Given the description of an element on the screen output the (x, y) to click on. 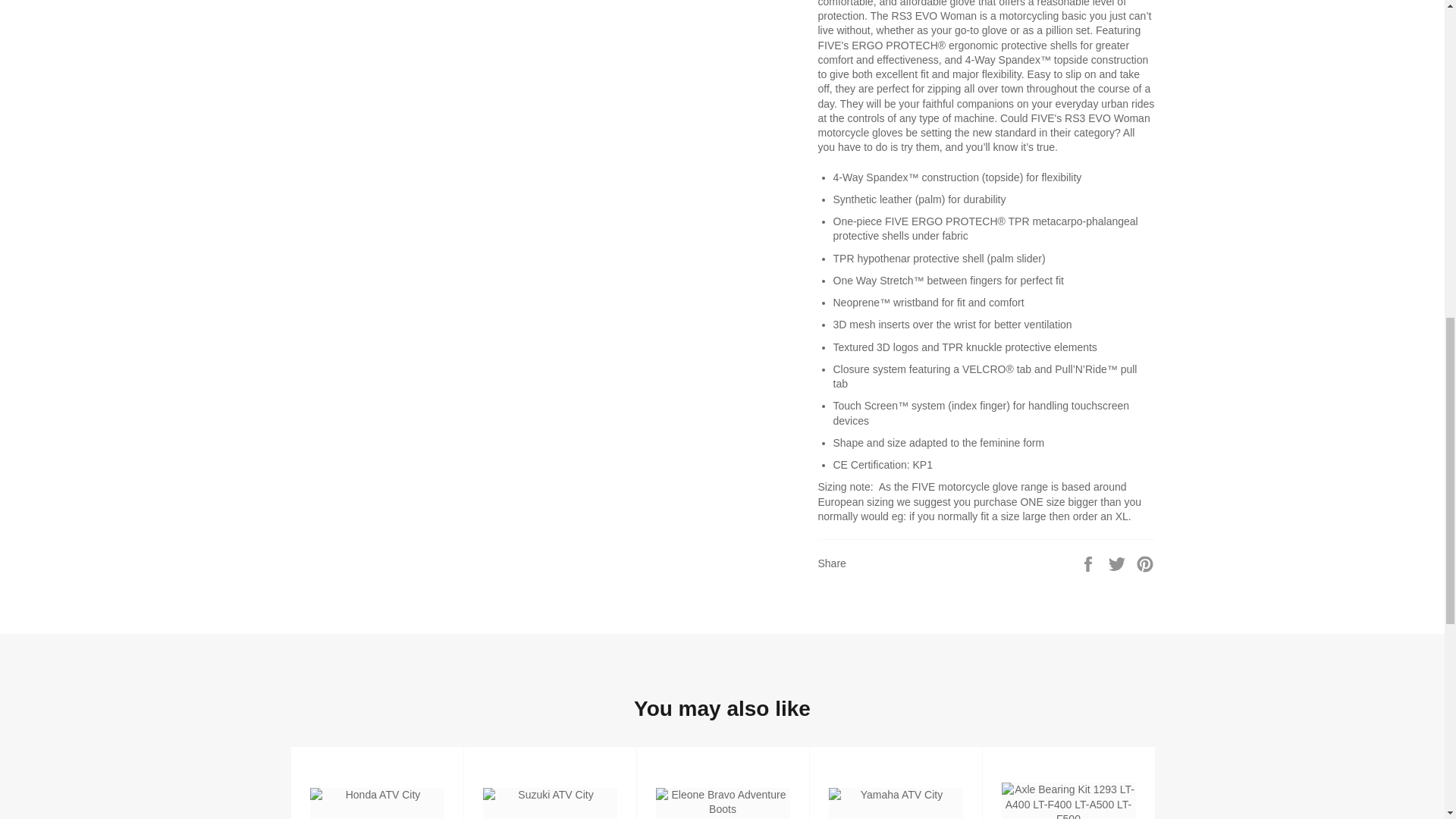
Pin on Pinterest (1144, 563)
Share on Facebook (1089, 563)
Tweet on Twitter (1118, 563)
